Given the description of an element on the screen output the (x, y) to click on. 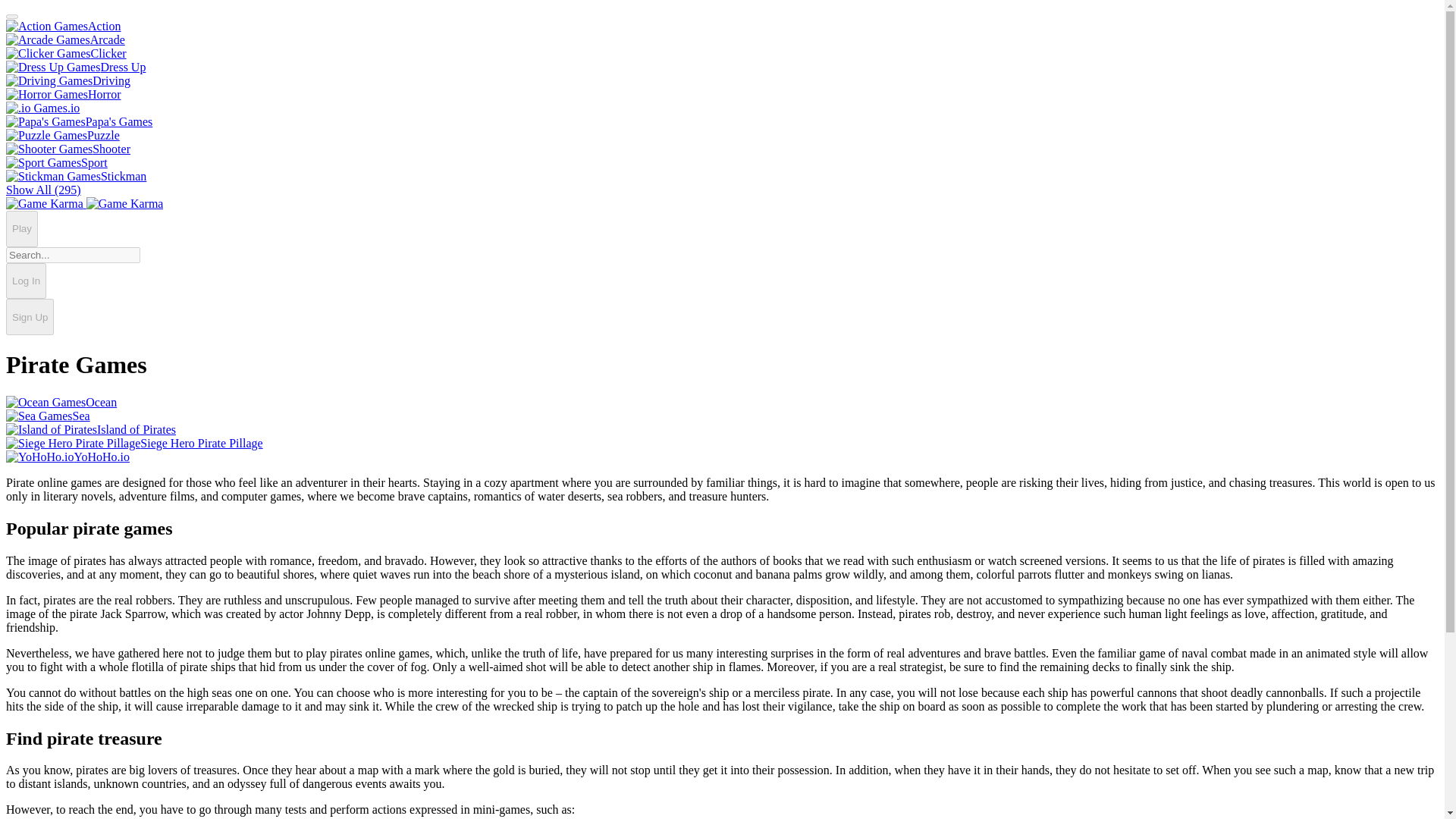
Horror (62, 93)
Papa's Games (78, 121)
Shooter (68, 148)
YoHoHo.io (67, 456)
Siege Hero Pirate Pillage (134, 442)
Log In (25, 280)
Sign Up (29, 316)
Dress Up (75, 66)
Stickman (76, 175)
.io (42, 107)
